Given the description of an element on the screen output the (x, y) to click on. 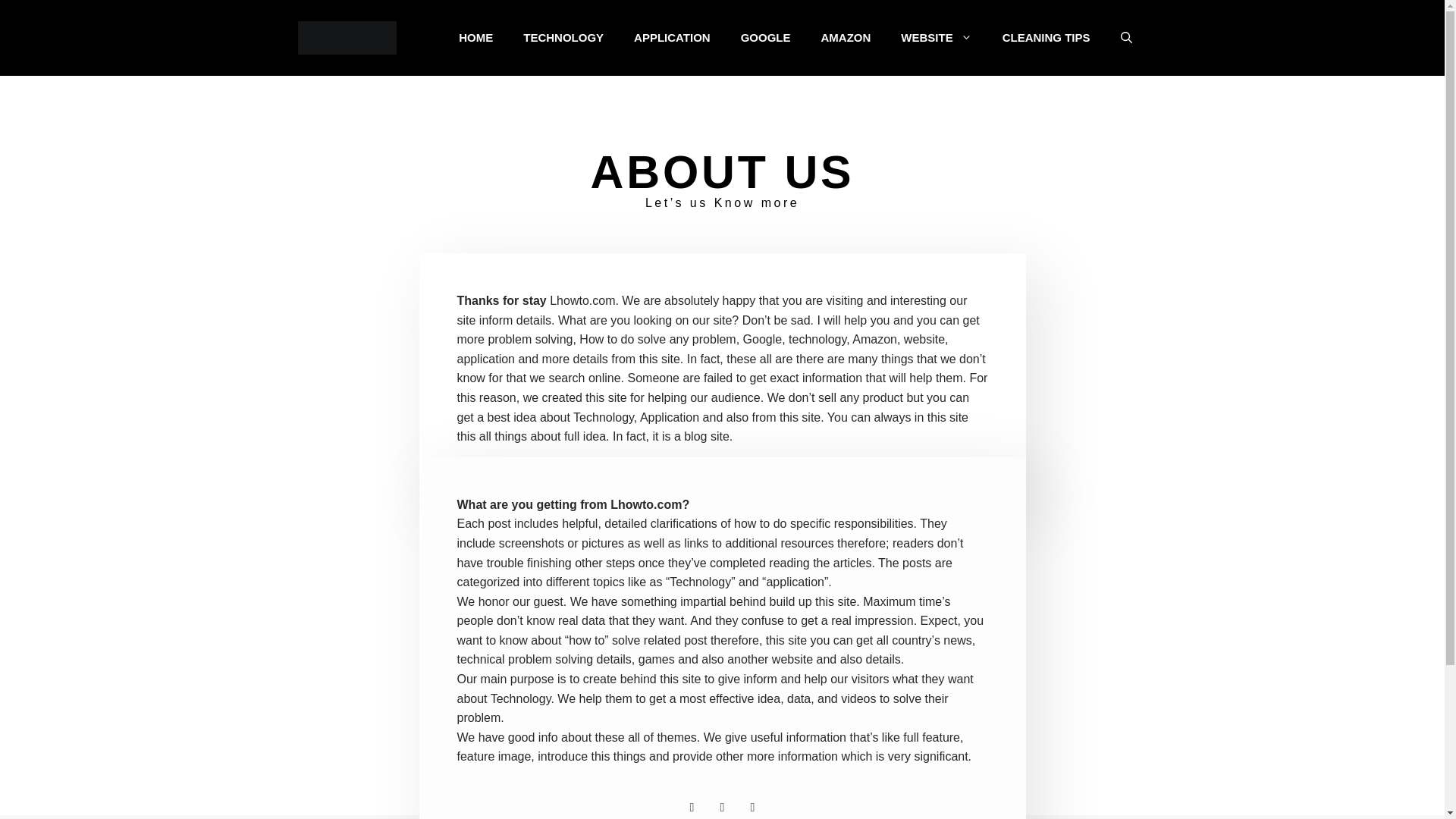
HOME (476, 37)
AMAZON (845, 37)
APPLICATION (671, 37)
WEBSITE (936, 37)
TECHNOLOGY (563, 37)
GOOGLE (765, 37)
CLEANING TIPS (1046, 37)
